Given the description of an element on the screen output the (x, y) to click on. 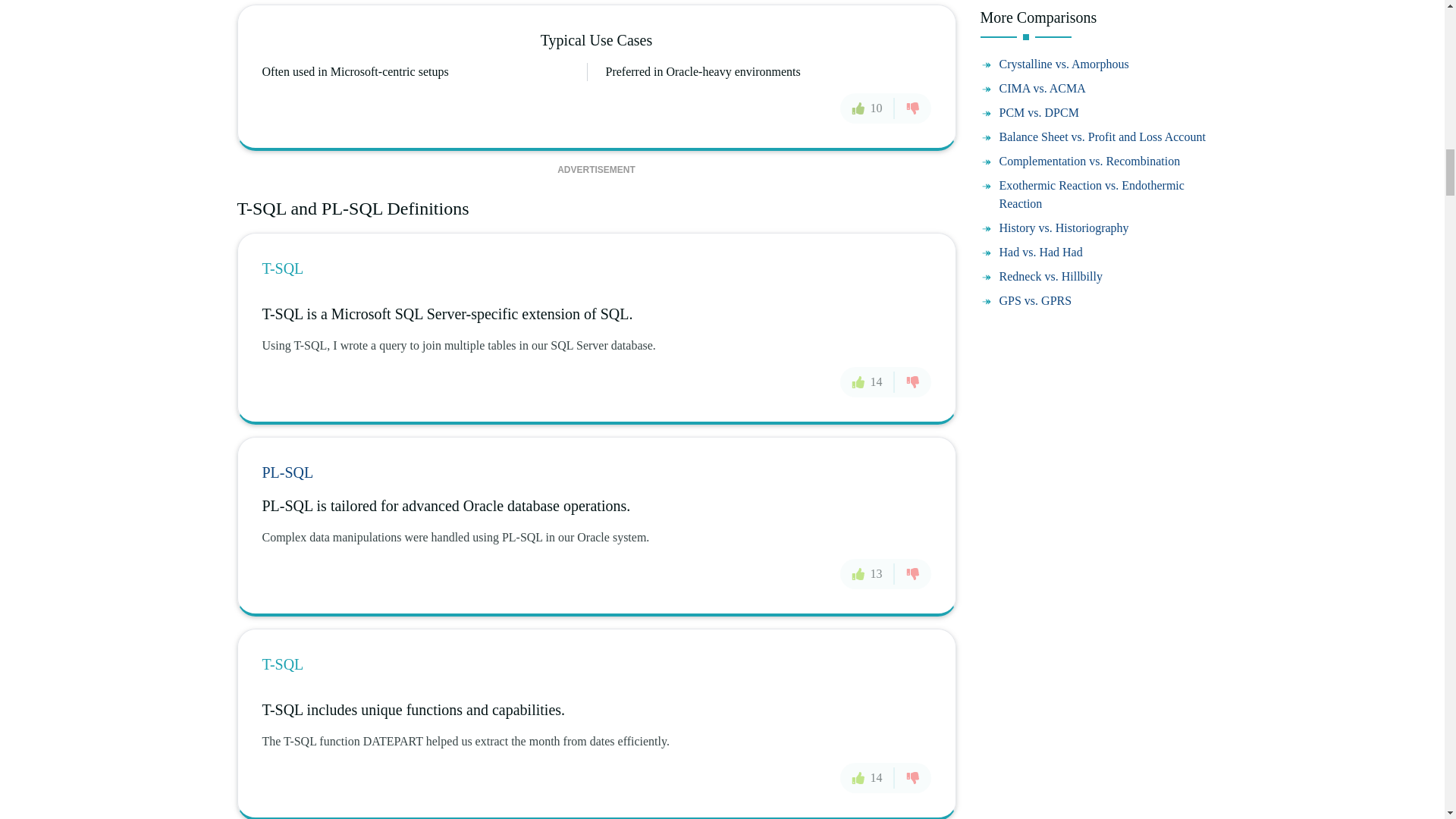
14 (867, 777)
14 (867, 381)
10 (867, 107)
13 (867, 572)
